Given the description of an element on the screen output the (x, y) to click on. 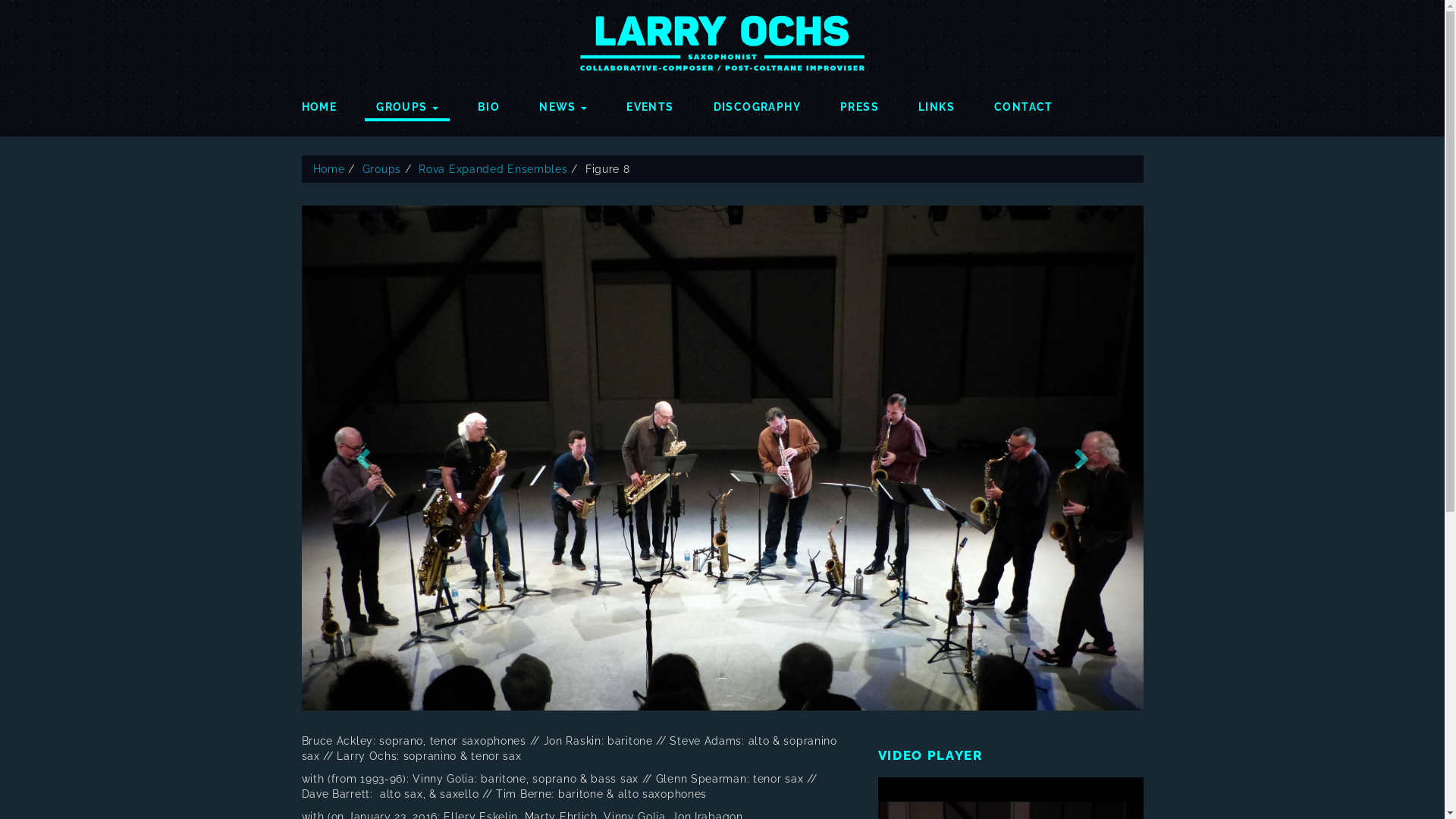
EVENTS Element type: text (649, 102)
HOME Element type: text (318, 102)
CONTACT Element type: text (1023, 102)
Rova Expanded Ensembles Element type: text (492, 169)
NEWS Element type: text (562, 102)
PRESS Element type: text (859, 102)
LINKS Element type: text (936, 102)
DISCOGRAPHY Element type: text (757, 102)
BIO Element type: text (488, 102)
GROUPS Element type: text (406, 104)
Groups Element type: text (381, 169)
Home Element type: text (328, 169)
